Given the description of an element on the screen output the (x, y) to click on. 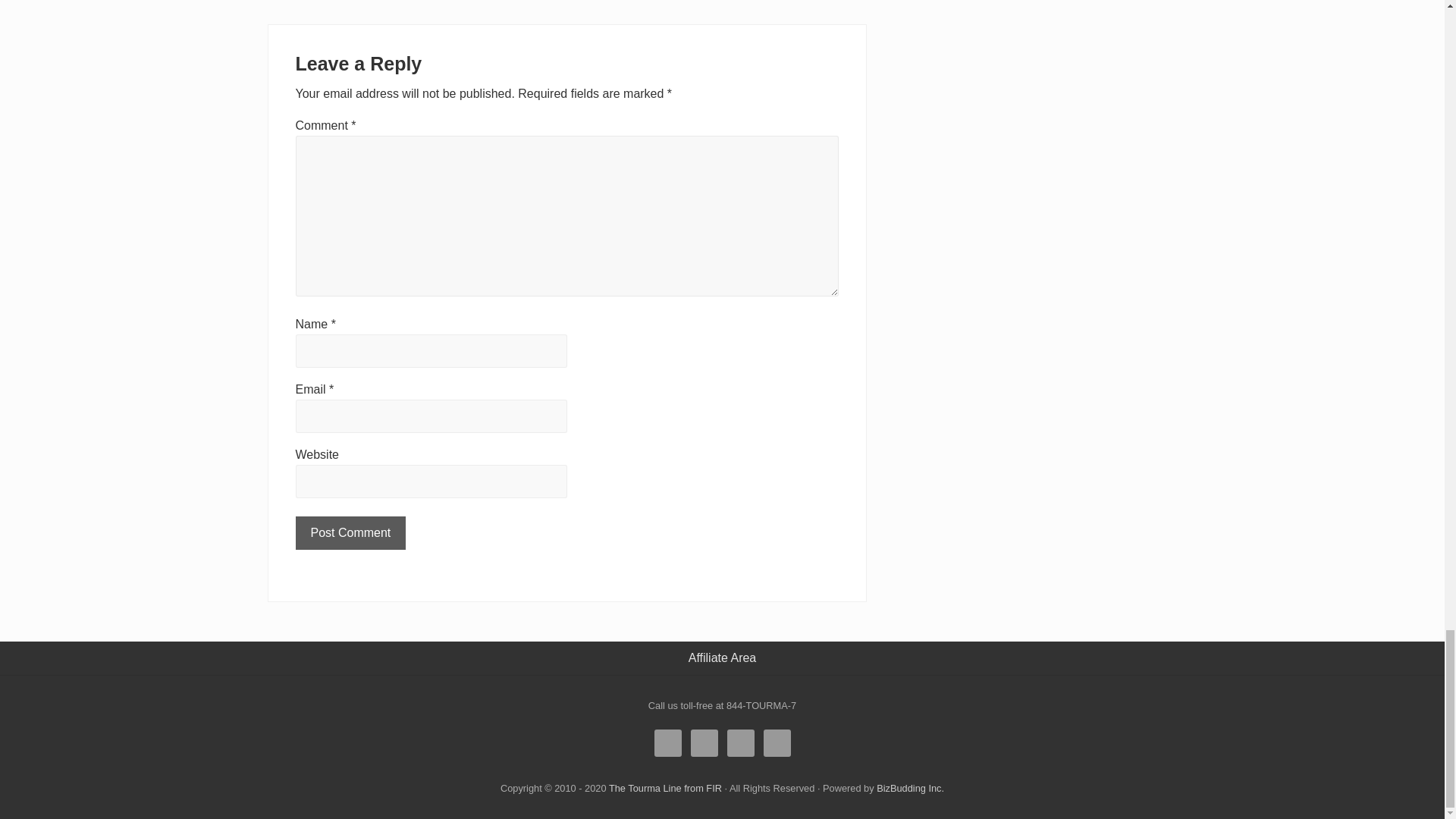
The Tourma Line from FIR (665, 787)
Post Comment (350, 532)
